Given the description of an element on the screen output the (x, y) to click on. 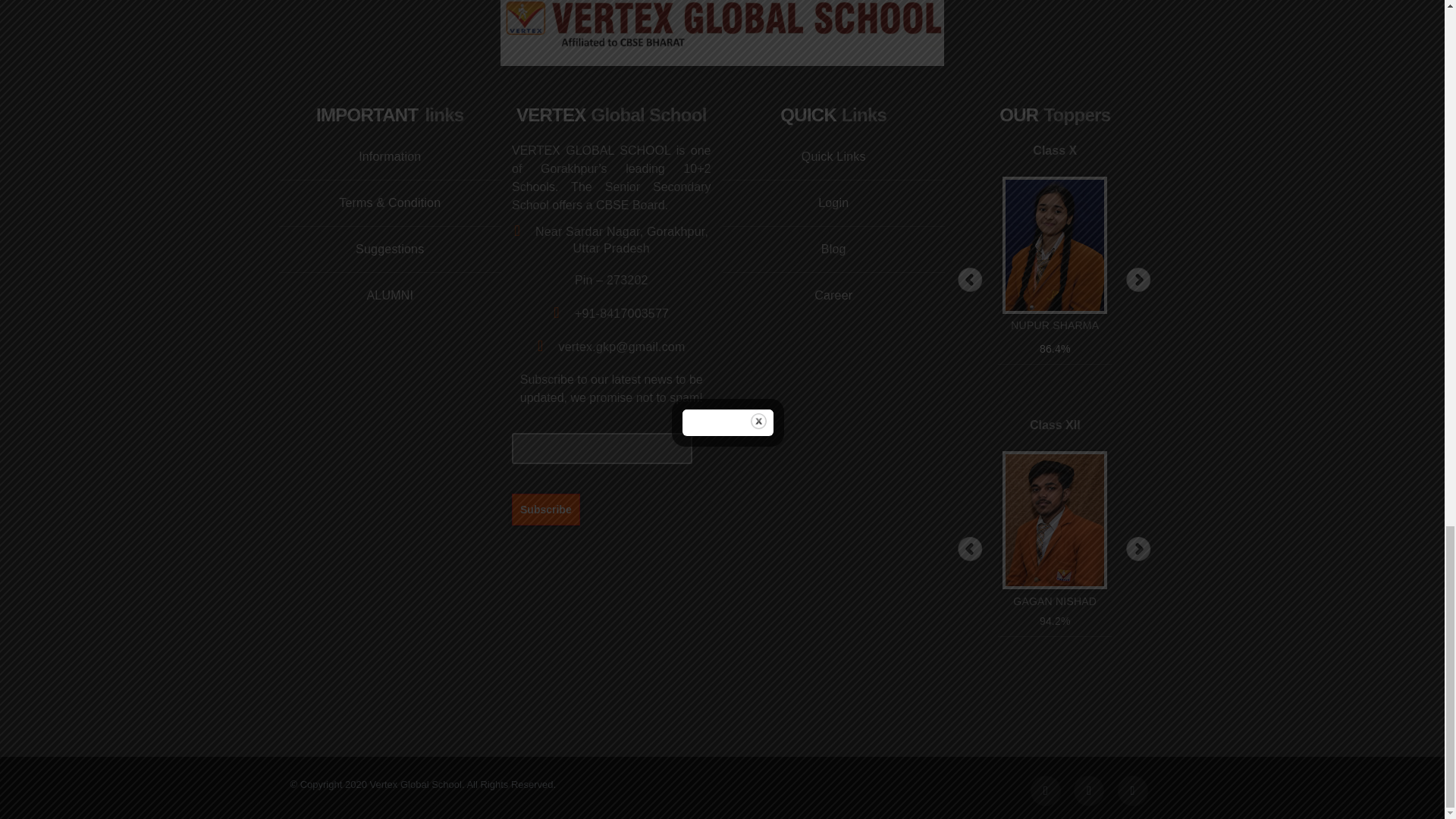
Subscribe (545, 508)
